Given the description of an element on the screen output the (x, y) to click on. 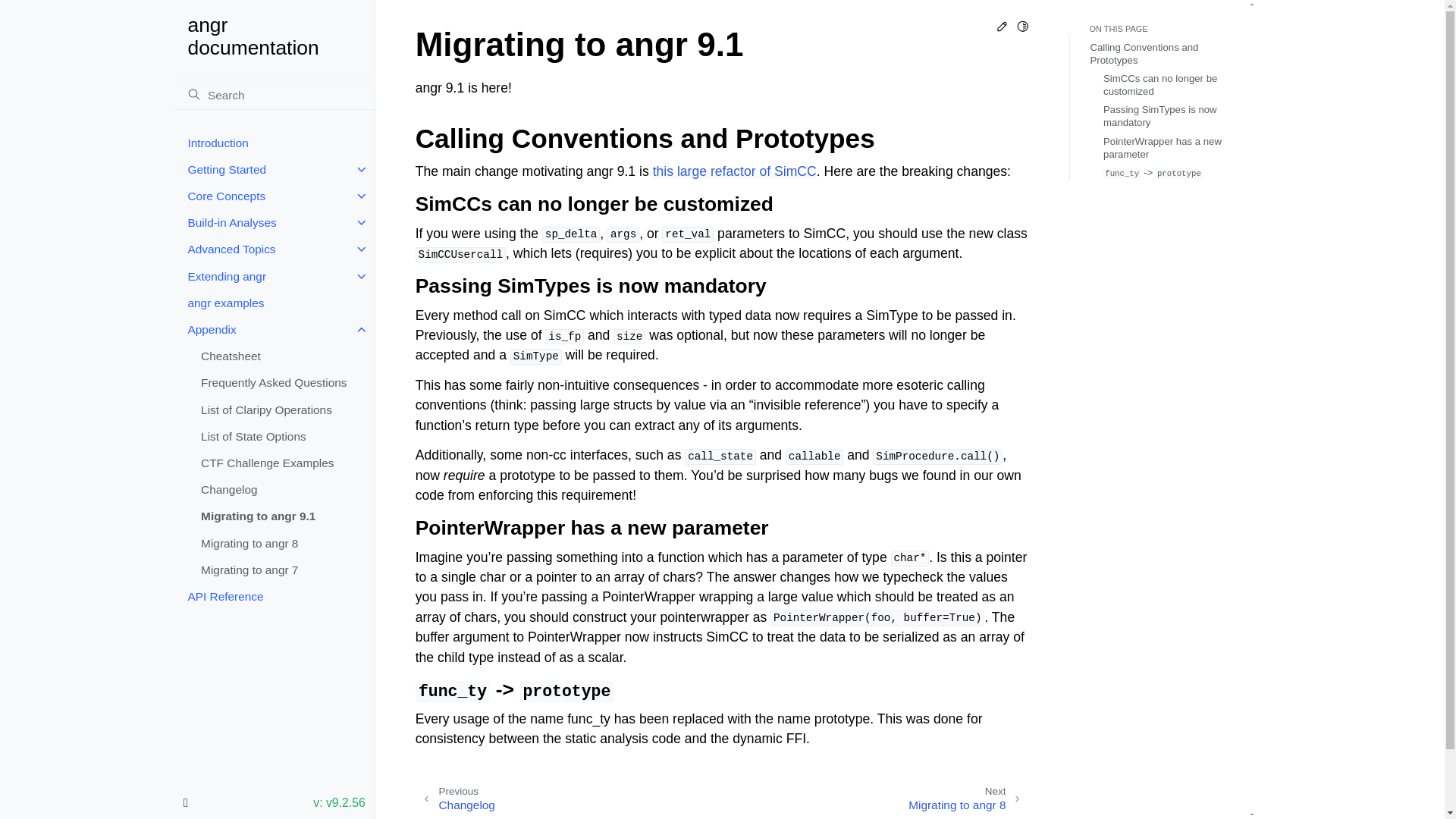
Core Concepts (274, 195)
Build-in Analyses (274, 222)
Getting Started (274, 169)
Introduction (274, 142)
Extending angr (274, 275)
angr documentation (274, 36)
Advanced Topics (274, 249)
Edit this page (1002, 28)
